Given the description of an element on the screen output the (x, y) to click on. 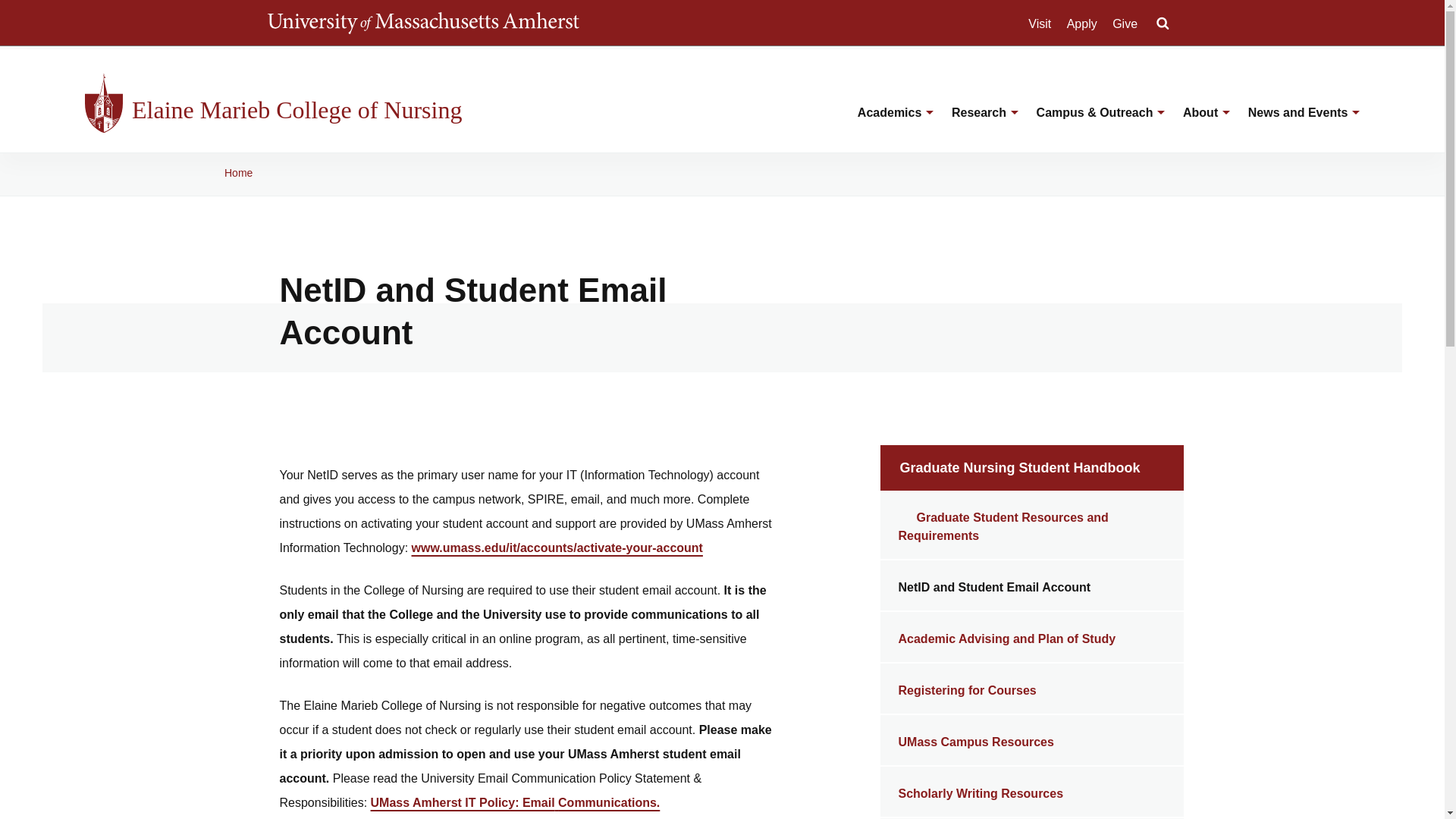
Elaine Marieb College of Nursing (309, 109)
Visit (1039, 24)
Academics (887, 124)
Research (976, 124)
The University of Massachusetts Amherst (422, 22)
UMass Amherst (422, 22)
Give (1124, 24)
Search UMass.edu (1161, 23)
Apply (1082, 24)
